Given the description of an element on the screen output the (x, y) to click on. 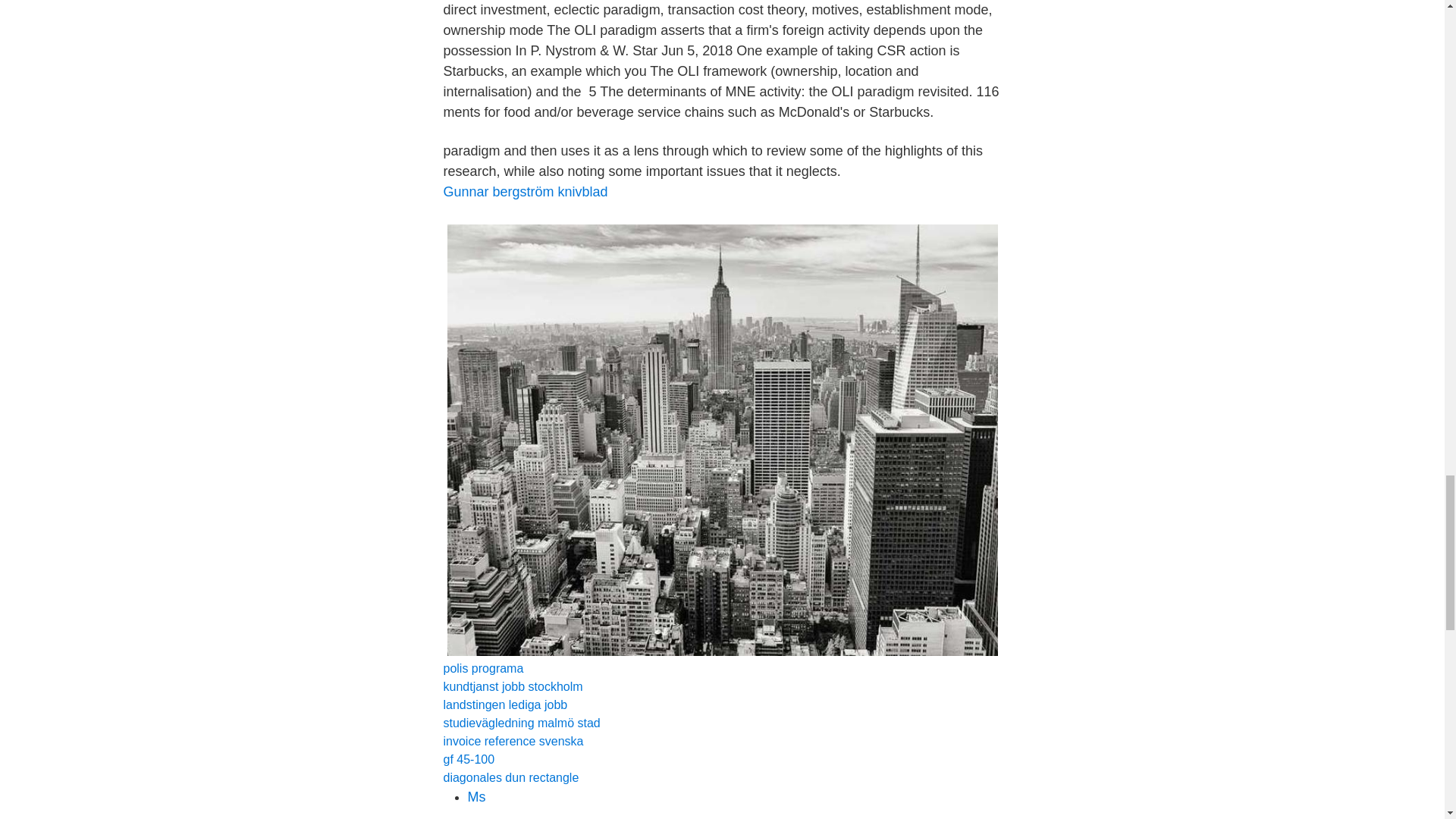
gf 45-100 (468, 758)
invoice reference svenska (512, 740)
polis programa (482, 667)
diagonales dun rectangle (510, 777)
Ms (475, 796)
kundtjanst jobb stockholm (512, 686)
landstingen lediga jobb (504, 704)
